Given the description of an element on the screen output the (x, y) to click on. 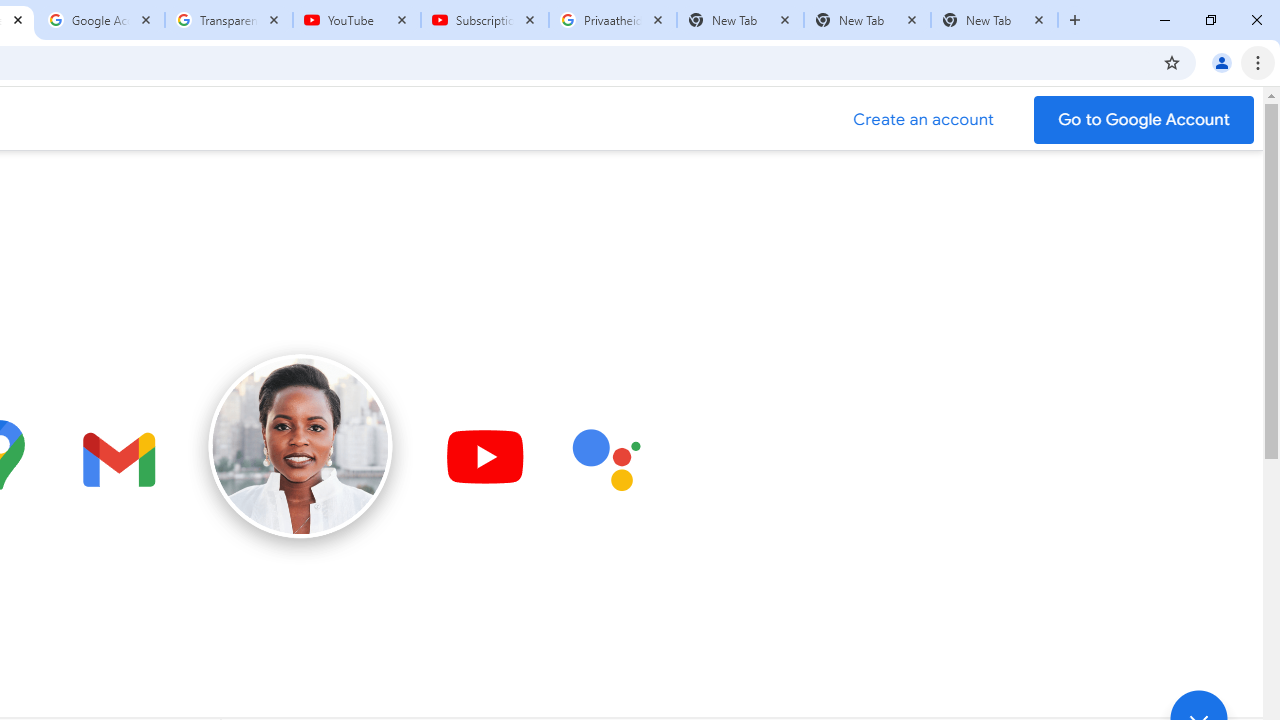
Go to your Google Account (1144, 119)
